Given the description of an element on the screen output the (x, y) to click on. 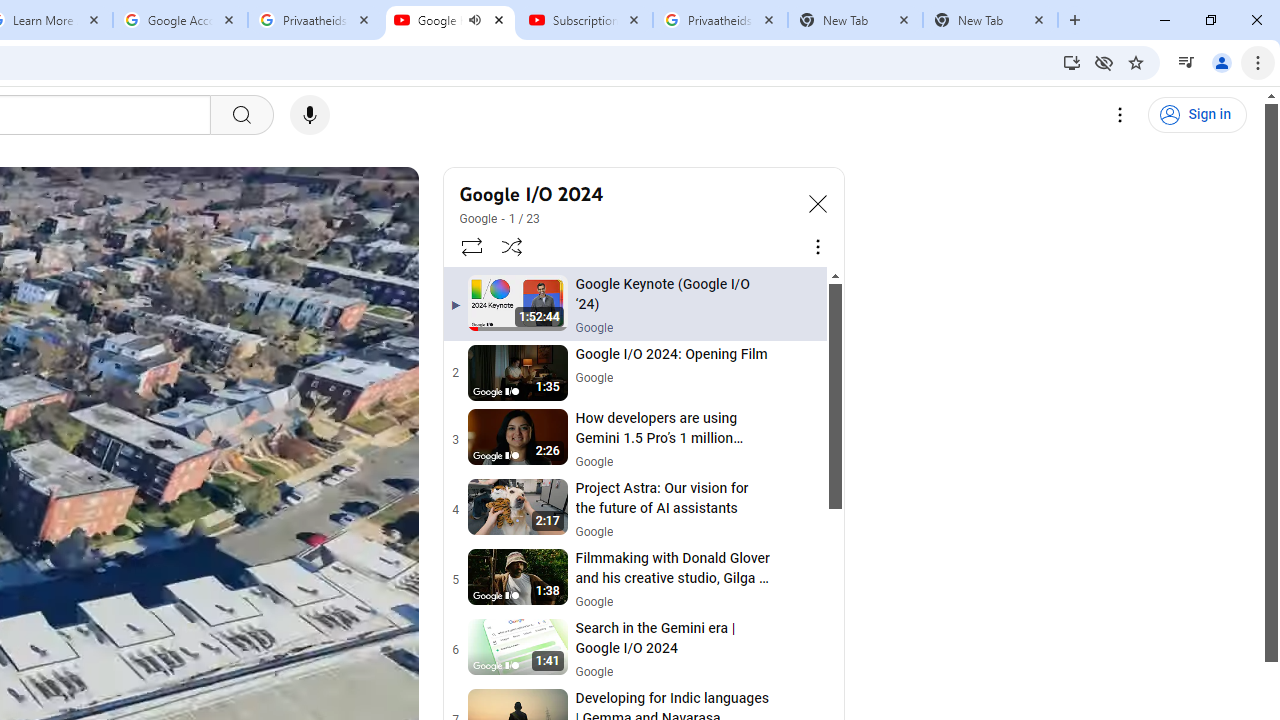
Google Account (180, 20)
Loop playlist (470, 246)
